Given the description of an element on the screen output the (x, y) to click on. 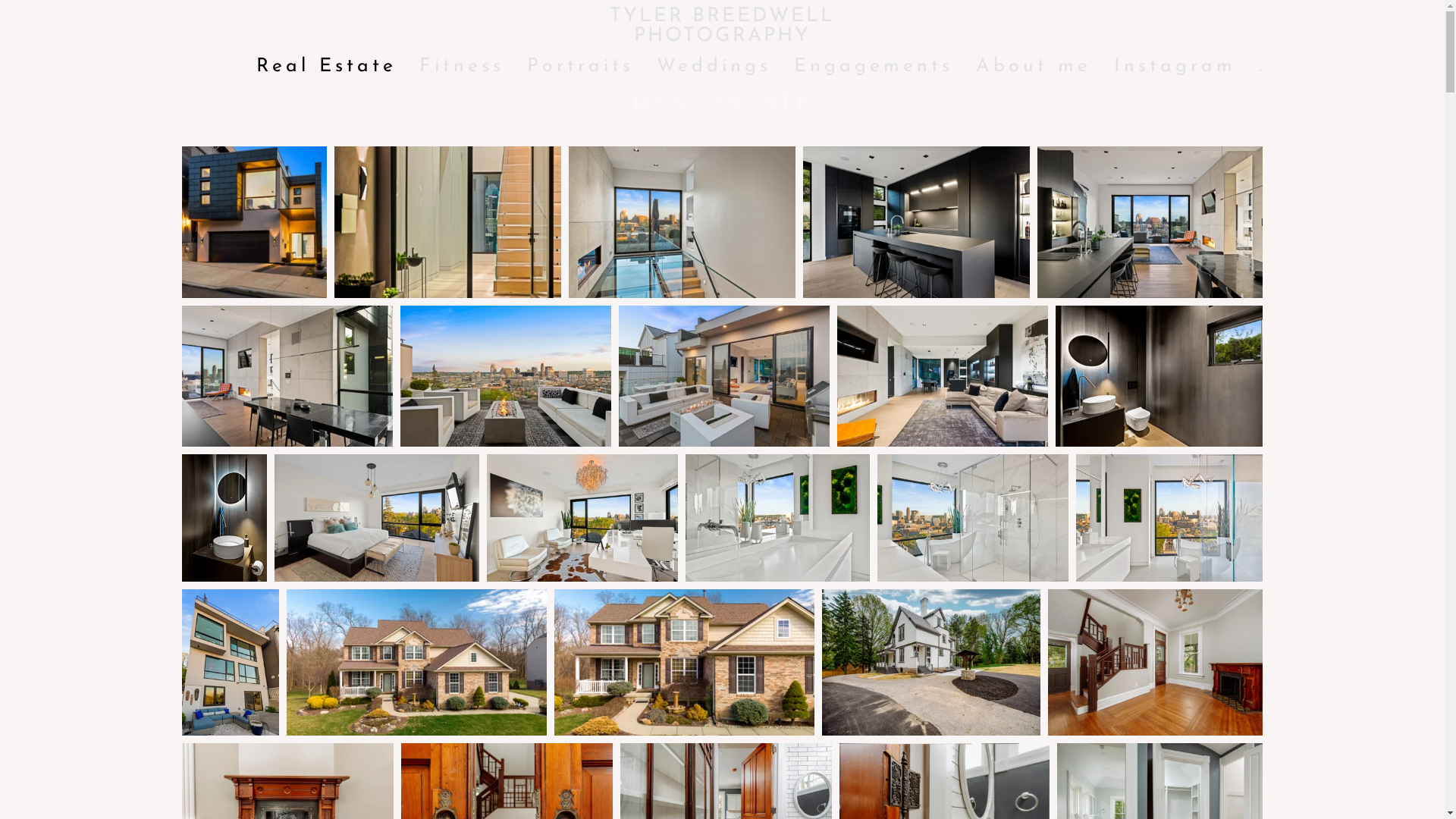
. Element type: text (1261, 66)
Real Estate - TYLER BREEDWELL PHOTOGRAPHY Element type: hover (723, 375)
Real Estate - TYLER BREEDWELL PHOTOGRAPHY Element type: hover (287, 375)
Real Estate - TYLER BREEDWELL PHOTOGRAPHY Element type: hover (942, 375)
Real Estate - TYLER BREEDWELL PHOTOGRAPHY Element type: hover (777, 517)
Real Estate - TYLER BREEDWELL PHOTOGRAPHY Element type: hover (681, 222)
Real Estate - TYLER BREEDWELL PHOTOGRAPHY Element type: hover (230, 662)
About me Element type: text (1033, 66)
Real Estate - TYLER BREEDWELL PHOTOGRAPHY Element type: hover (1162, 375)
Real Estate - TYLER BREEDWELL PHOTOGRAPHY Element type: hover (376, 517)
TYLER BREEDWELL PHOTOGRAPHY Element type: text (721, 26)
Real Estate - TYLER BREEDWELL PHOTOGRAPHY Element type: hover (931, 662)
Weddings Element type: text (712, 66)
Real Estate - TYLER BREEDWELL PHOTOGRAPHY Element type: hover (505, 375)
Real Estate - TYLER BREEDWELL PHOTOGRAPHY Element type: hover (1172, 517)
Real Estate - TYLER BREEDWELL PHOTOGRAPHY Element type: hover (416, 662)
Real Estate - TYLER BREEDWELL PHOTOGRAPHY Element type: hover (254, 222)
Real Estate - TYLER BREEDWELL PHOTOGRAPHY Element type: hover (1158, 662)
Real Estate - TYLER BREEDWELL PHOTOGRAPHY Element type: hover (972, 517)
Real Estate - TYLER BREEDWELL PHOTOGRAPHY Element type: hover (581, 517)
Fitness Element type: text (461, 66)
Instagram Element type: text (1174, 66)
Real Estate - TYLER BREEDWELL PHOTOGRAPHY Element type: hover (916, 222)
Real Estate Element type: text (325, 66)
Real Estate - TYLER BREEDWELL PHOTOGRAPHY Element type: hover (224, 517)
Portraits Element type: text (580, 66)
Real Estate - TYLER BREEDWELL PHOTOGRAPHY Element type: hover (684, 662)
Engagements Element type: text (873, 66)
Real Estate - TYLER BREEDWELL PHOTOGRAPHY Element type: hover (447, 222)
Real Estate - TYLER BREEDWELL PHOTOGRAPHY Element type: hover (1150, 222)
